Given the description of an element on the screen output the (x, y) to click on. 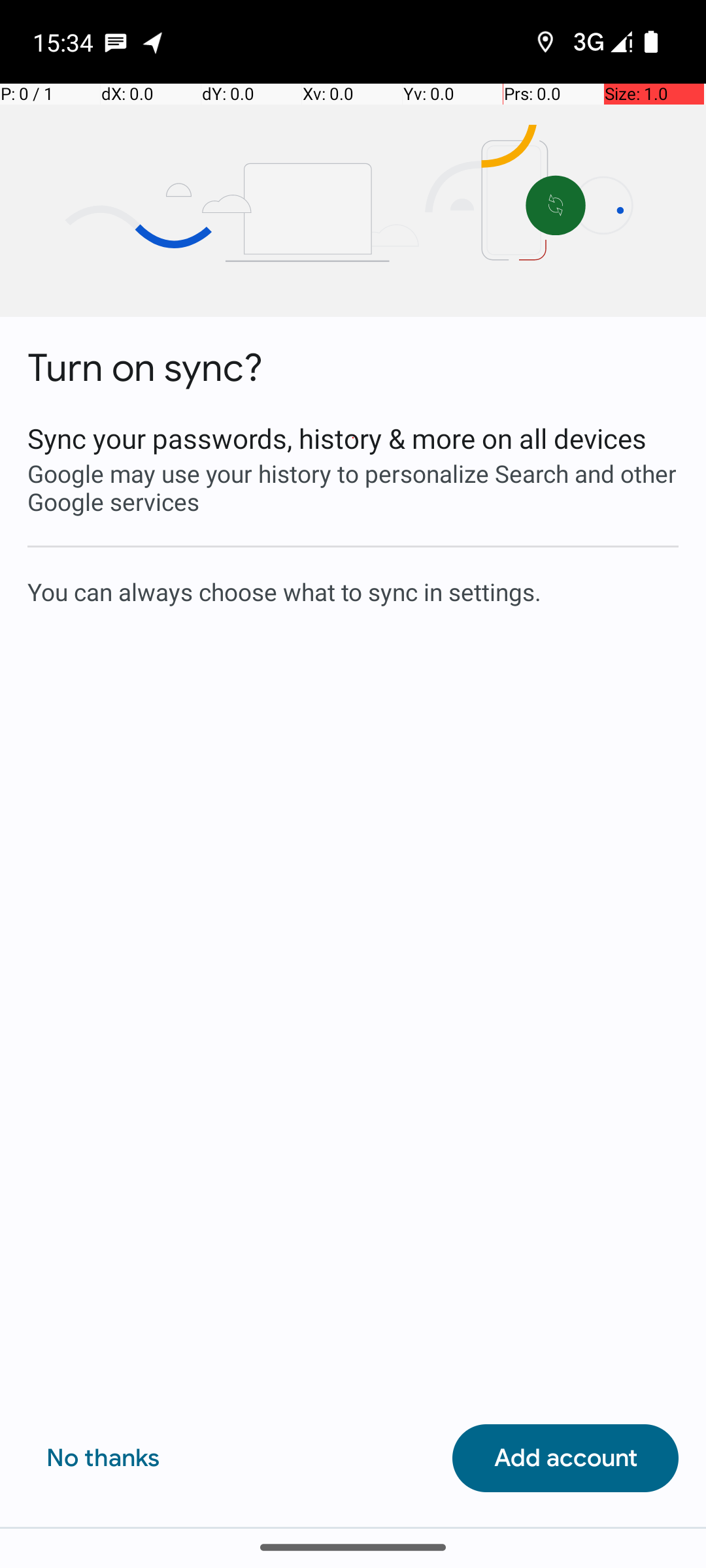
No thanks Element type: android.widget.Button (102, 1458)
Add account Element type: android.widget.Button (565, 1458)
Turn on sync? Element type: android.widget.TextView (144, 368)
Sync your passwords, history & more on all devices Element type: android.widget.TextView (352, 437)
Google may use your history to personalize Search and other Google services Element type: android.widget.TextView (352, 487)
You can always choose what to sync in settings. Element type: android.widget.TextView (352, 591)
